Given the description of an element on the screen output the (x, y) to click on. 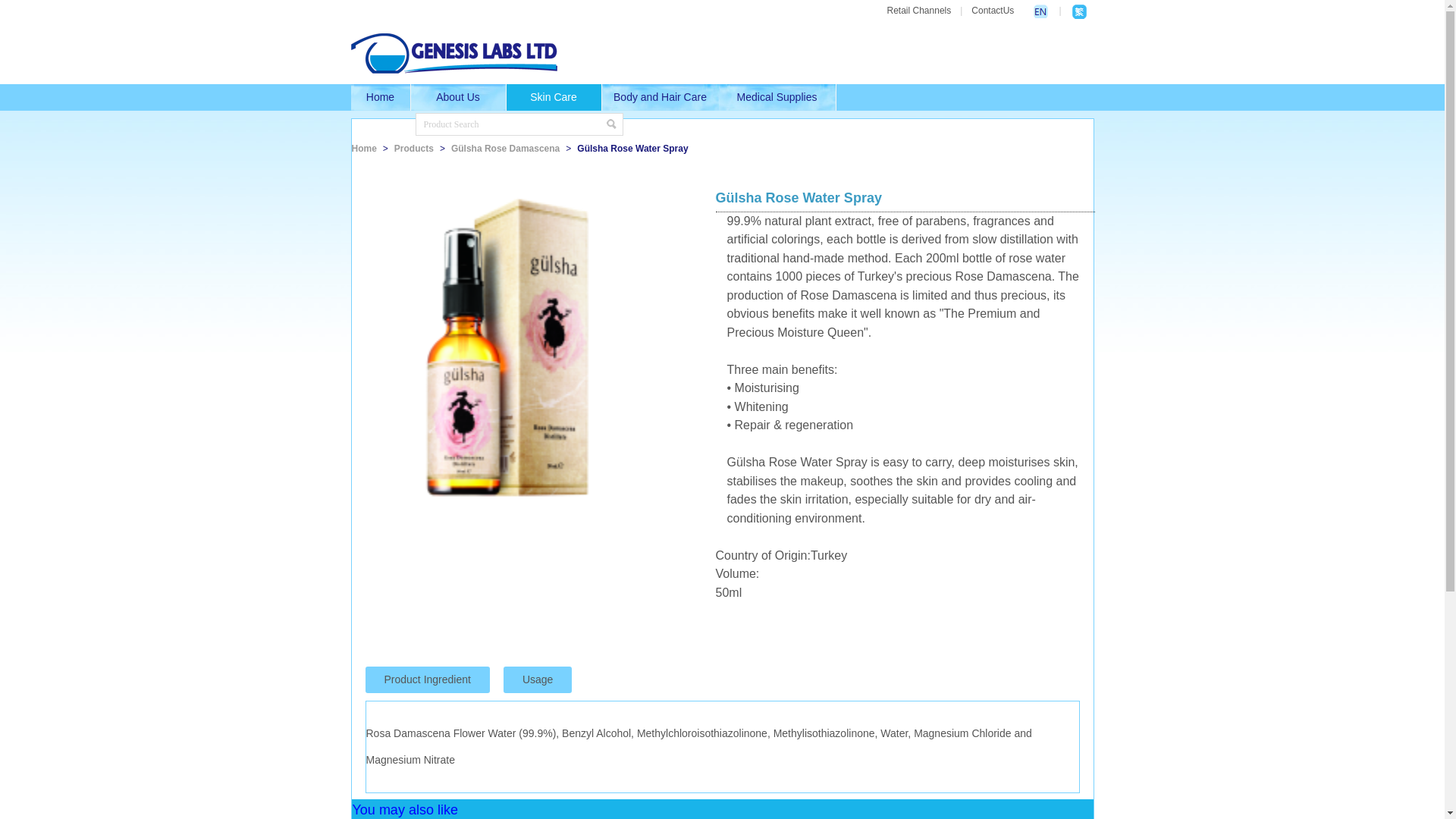
Home Element type: text (380, 97)
Retail Channels Element type: text (919, 10)
Medical Supplies Element type: text (777, 97)
About Us Element type: text (458, 97)
Skin Care Element type: text (554, 97)
Submit Element type: text (611, 123)
Search product here... Element type: hover (510, 124)
Body and Hair Care Element type: text (660, 97)
Genesis Labs Ltd Element type: hover (453, 53)
Usage Element type: text (537, 679)
Products Element type: text (413, 148)
ContactUs Element type: text (992, 10)
Product Search Element type: text (510, 124)
Home Element type: text (363, 148)
